Given the description of an element on the screen output the (x, y) to click on. 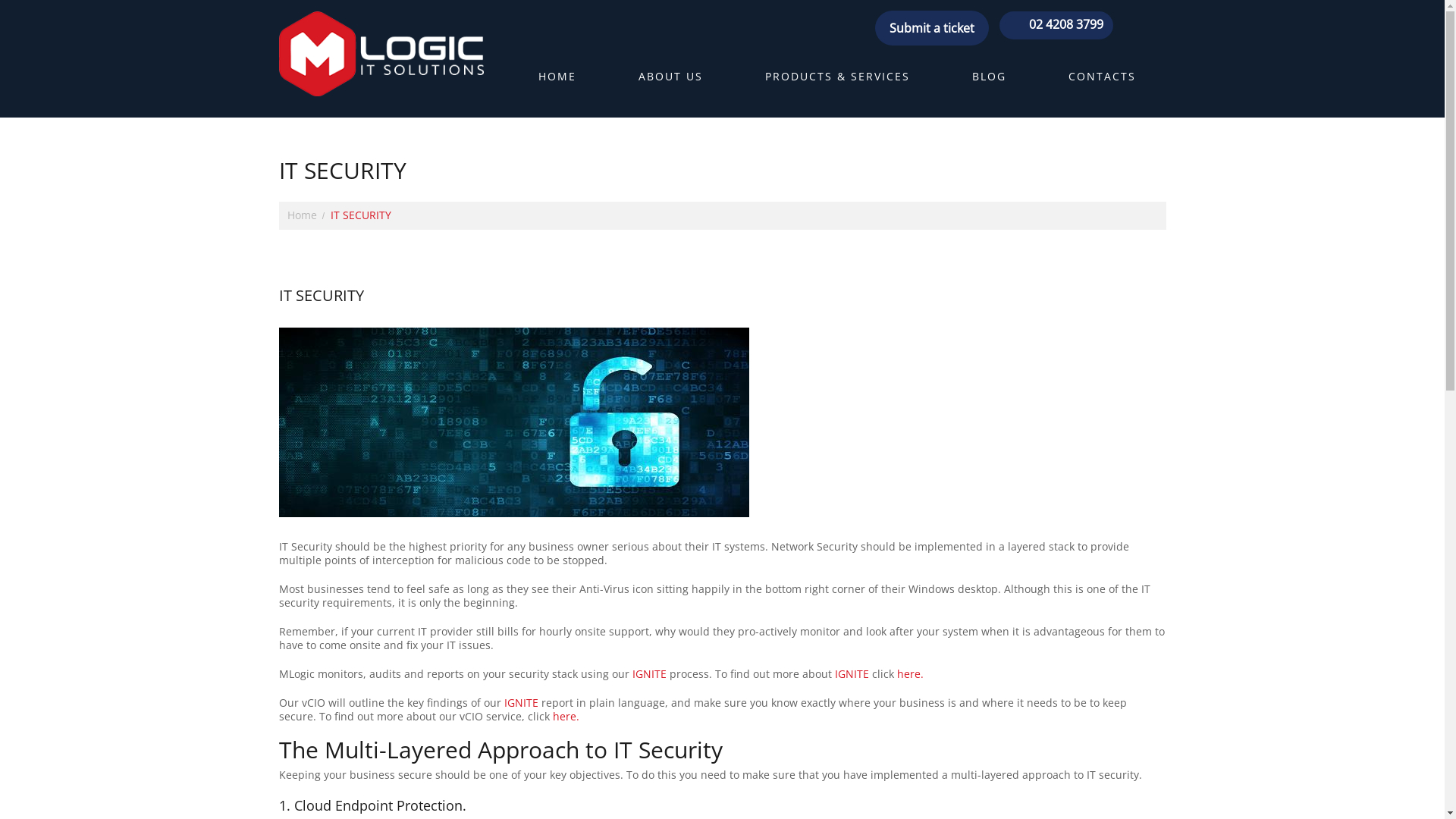
here. Element type: text (565, 716)
CONTACTS Element type: text (1101, 82)
IT Security Element type: hover (514, 422)
Managed IT Services for Business Element type: hover (381, 53)
PRODUCTS & SERVICES Element type: text (836, 82)
HOME Element type: text (557, 82)
Home Element type: text (301, 214)
ABOUT US Element type: text (670, 82)
here. Element type: text (909, 673)
BLOG Element type: text (988, 82)
Submit a ticket Element type: text (930, 27)
